Given the description of an element on the screen output the (x, y) to click on. 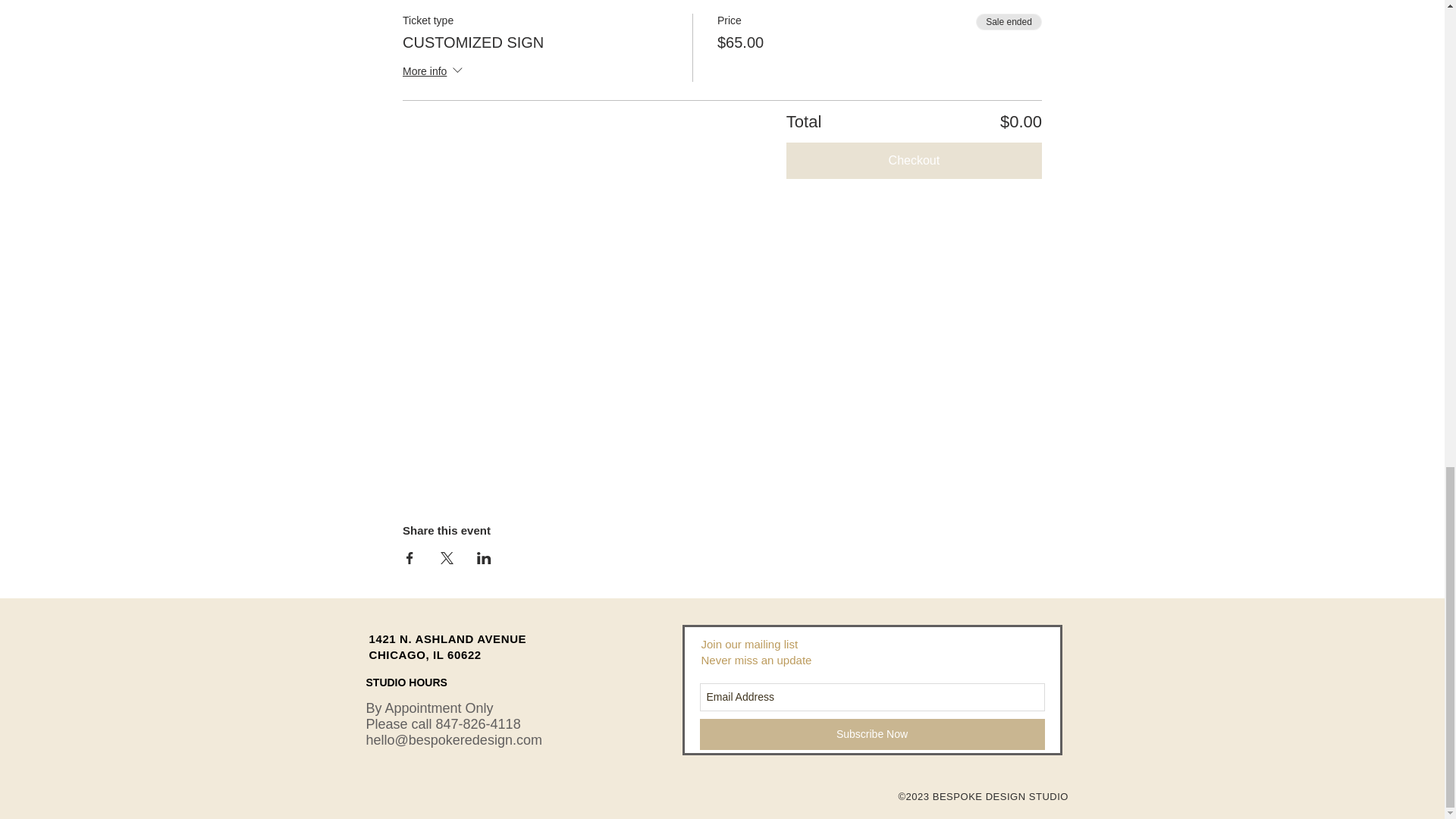
More info (434, 72)
Subscribe Now (870, 734)
Checkout (914, 160)
